Given the description of an element on the screen output the (x, y) to click on. 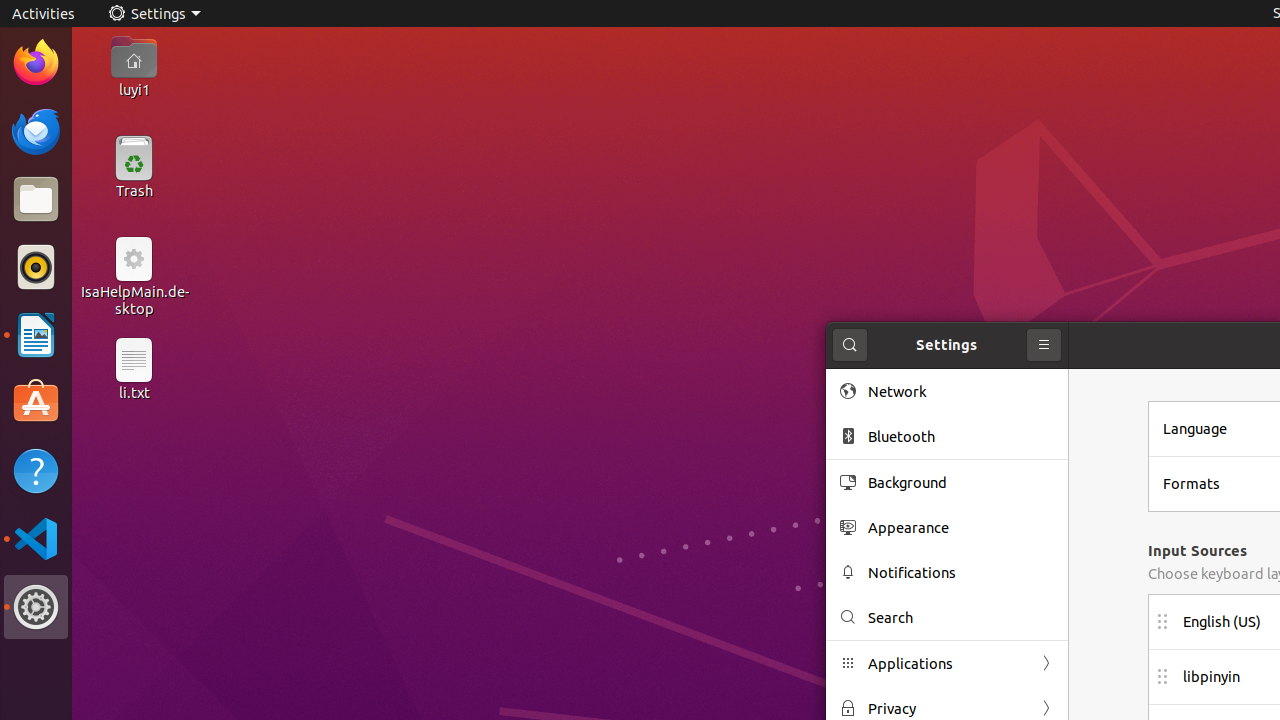
Firefox Web Browser Element type: push-button (36, 63)
Settings Element type: push-button (36, 607)
Privacy Element type: label (947, 708)
Notifications Element type: label (961, 572)
